Given the description of an element on the screen output the (x, y) to click on. 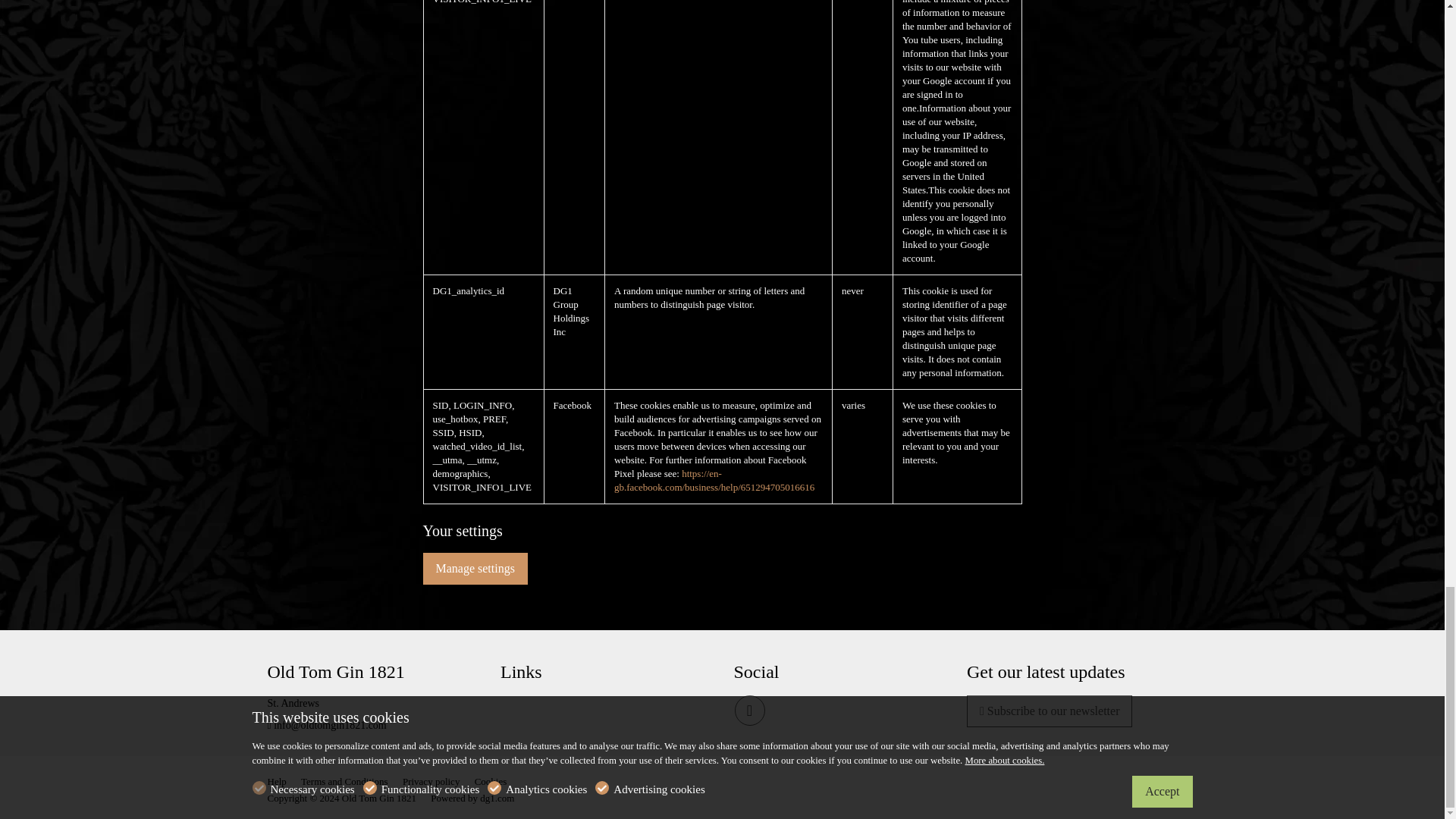
Instagram (748, 710)
Help (279, 782)
Manage settings (475, 568)
